Given the description of an element on the screen output the (x, y) to click on. 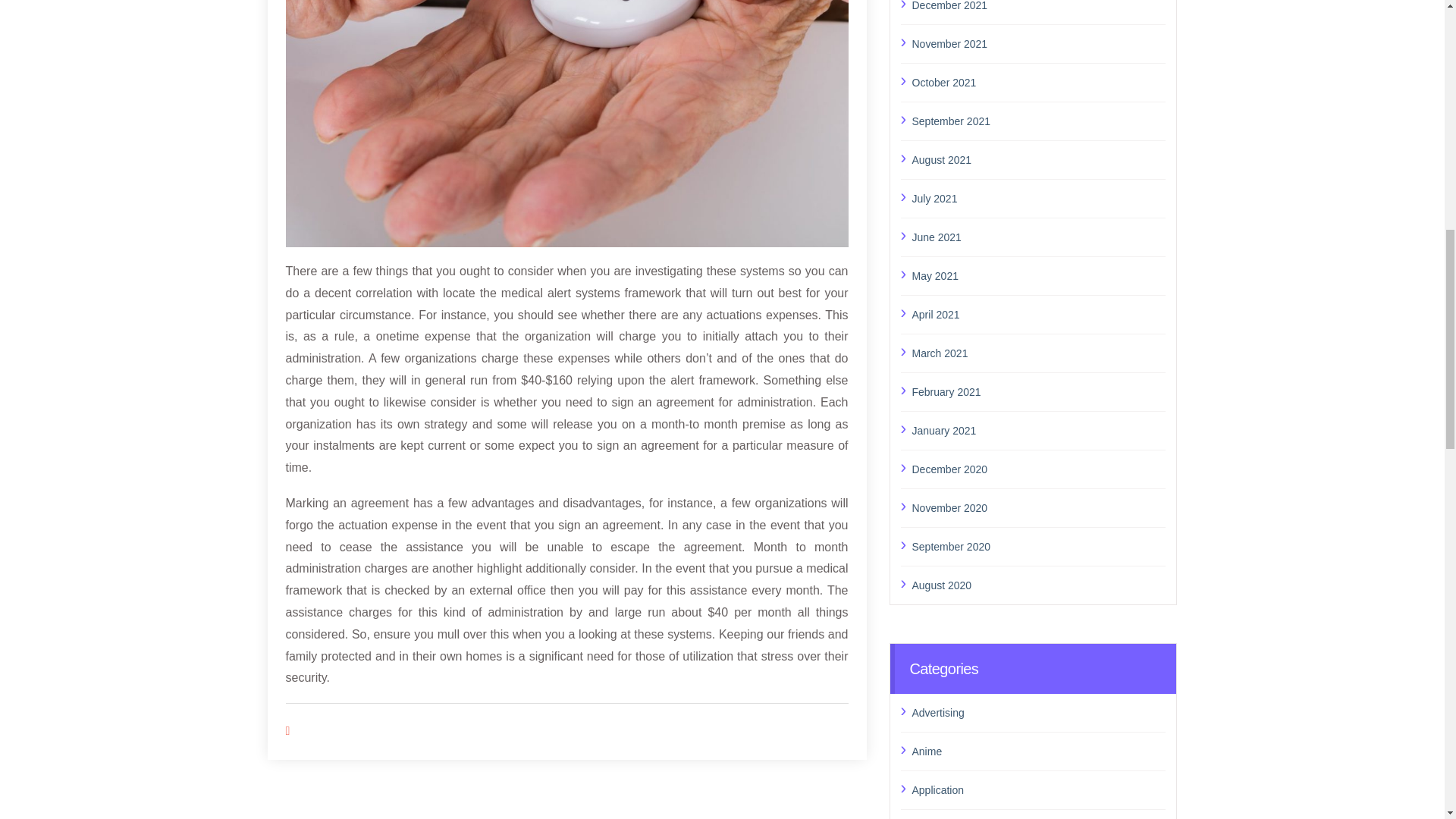
January 2021 (1038, 430)
August 2021 (1038, 159)
October 2021 (1038, 82)
March 2021 (1038, 353)
May 2021 (1038, 275)
December 2020 (1038, 469)
June 2021 (1038, 237)
July 2021 (1038, 198)
December 2021 (1038, 7)
November 2020 (1038, 507)
November 2021 (1038, 44)
February 2021 (1038, 392)
April 2021 (1038, 314)
September 2021 (1038, 121)
